Given the description of an element on the screen output the (x, y) to click on. 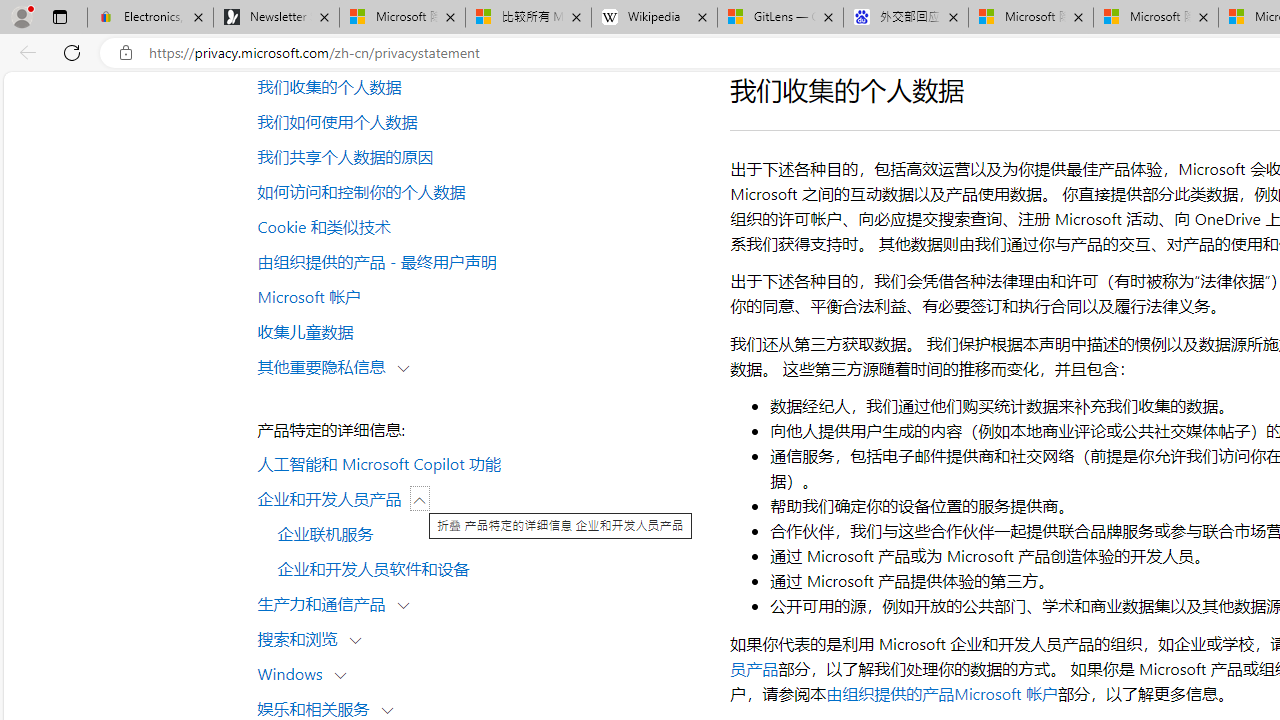
Electronics, Cars, Fashion, Collectibles & More | eBay (150, 17)
Windows (294, 672)
Wikipedia (653, 17)
Newsletter Sign Up (276, 17)
